Given the description of an element on the screen output the (x, y) to click on. 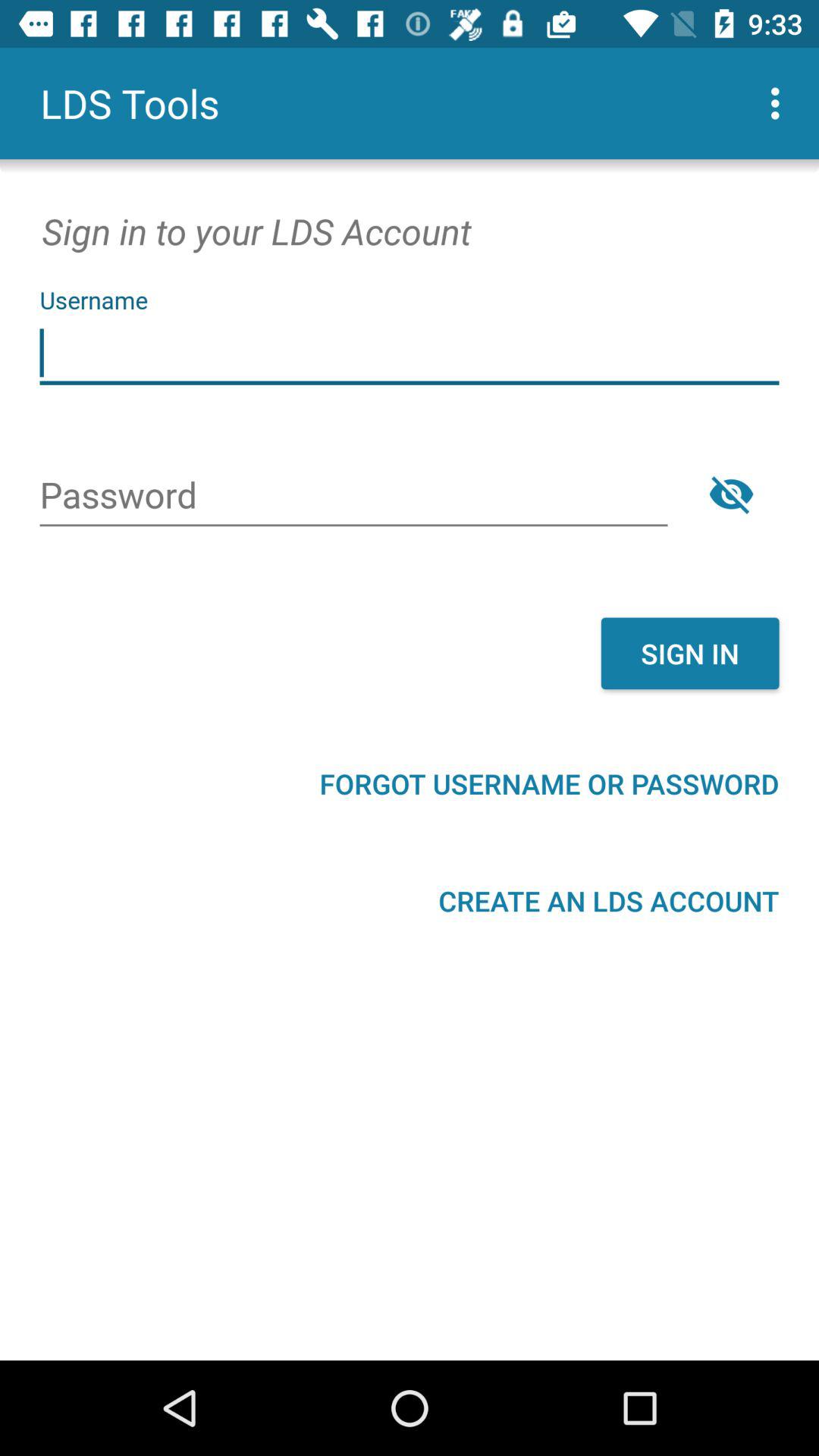
show password (731, 493)
